Given the description of an element on the screen output the (x, y) to click on. 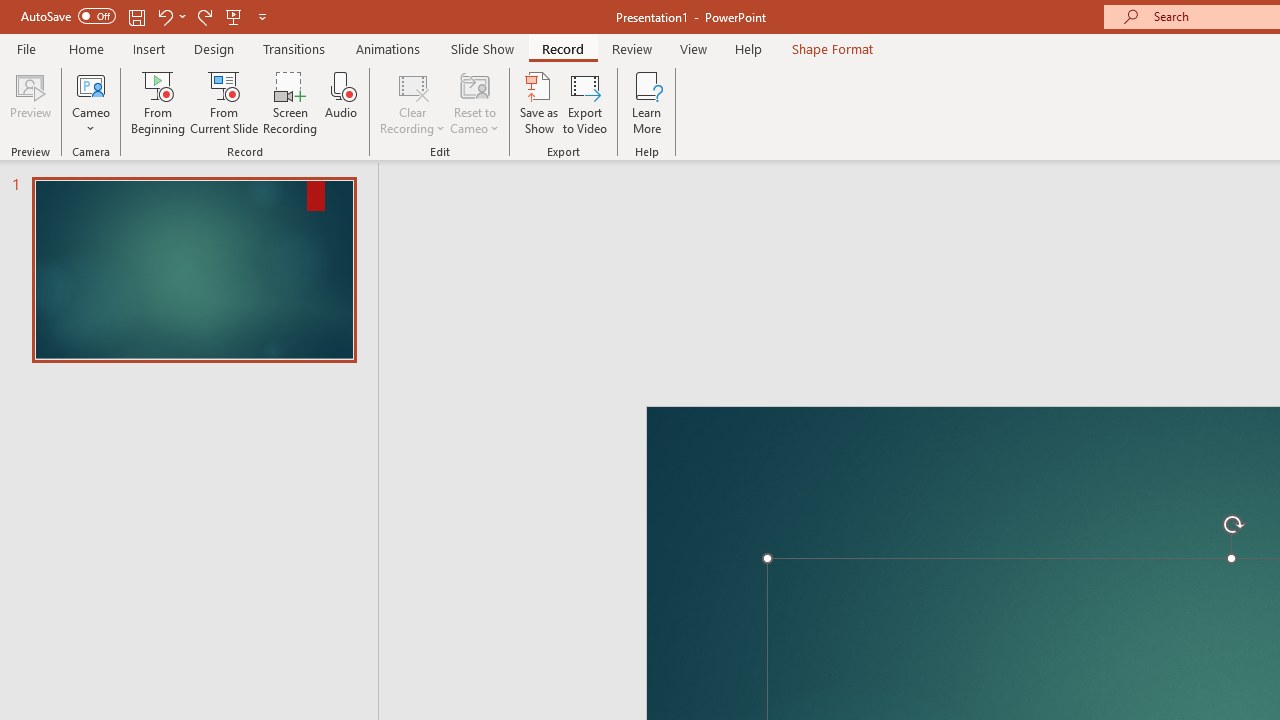
Redo (204, 15)
AutoSave (68, 16)
Quick Access Toolbar (145, 16)
Transitions (294, 48)
View (693, 48)
Shape Format (832, 48)
Cameo (91, 84)
Reset to Cameo (474, 102)
Home (86, 48)
Insert (149, 48)
Customize Quick Access Toolbar (262, 15)
Save as Show (539, 102)
More Options (91, 121)
Learn More (646, 102)
Audio (341, 102)
